Given the description of an element on the screen output the (x, y) to click on. 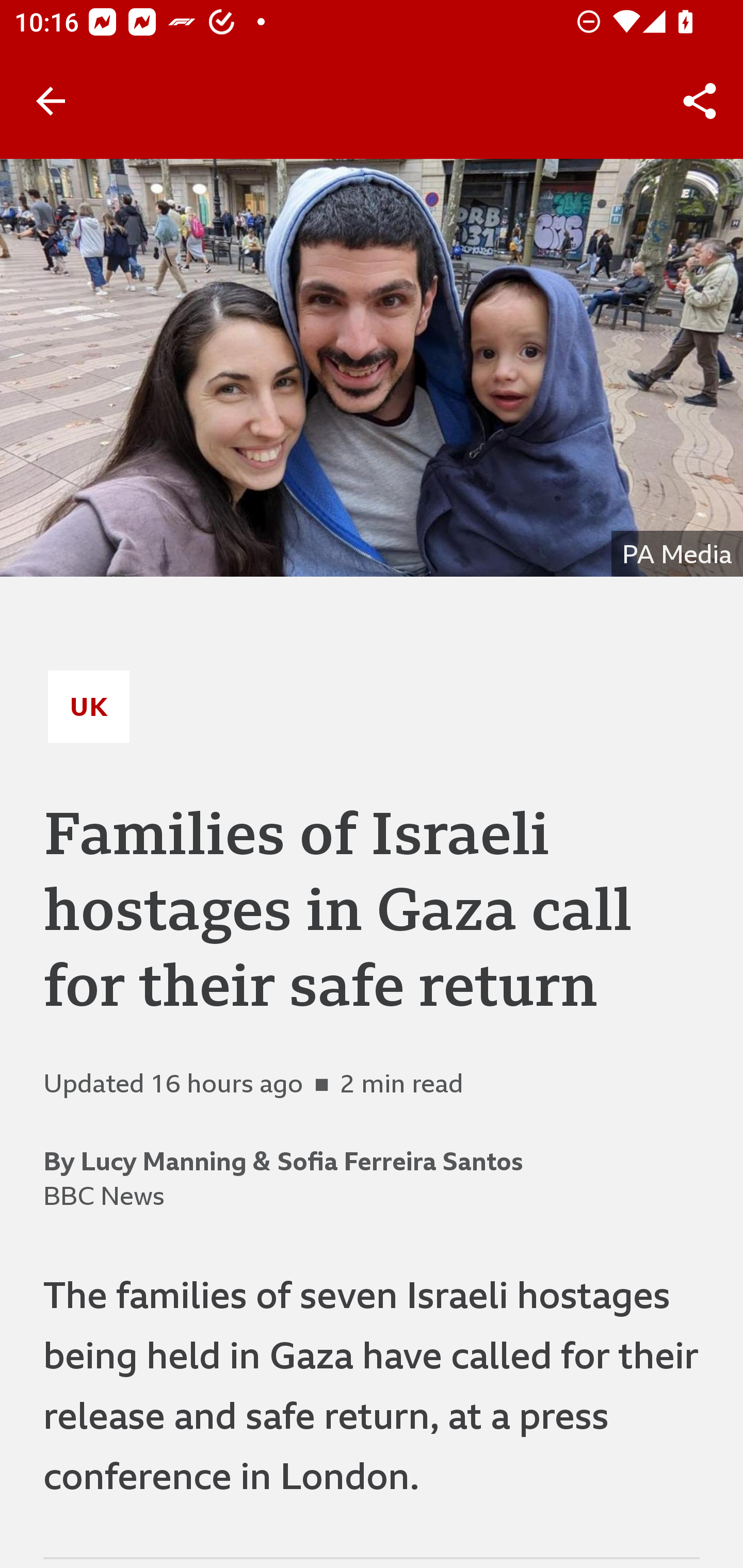
Back (50, 101)
Share (699, 101)
Eynav Levy, Or Levy and their son Almog (371, 367)
UK (88, 706)
